Given the description of an element on the screen output the (x, y) to click on. 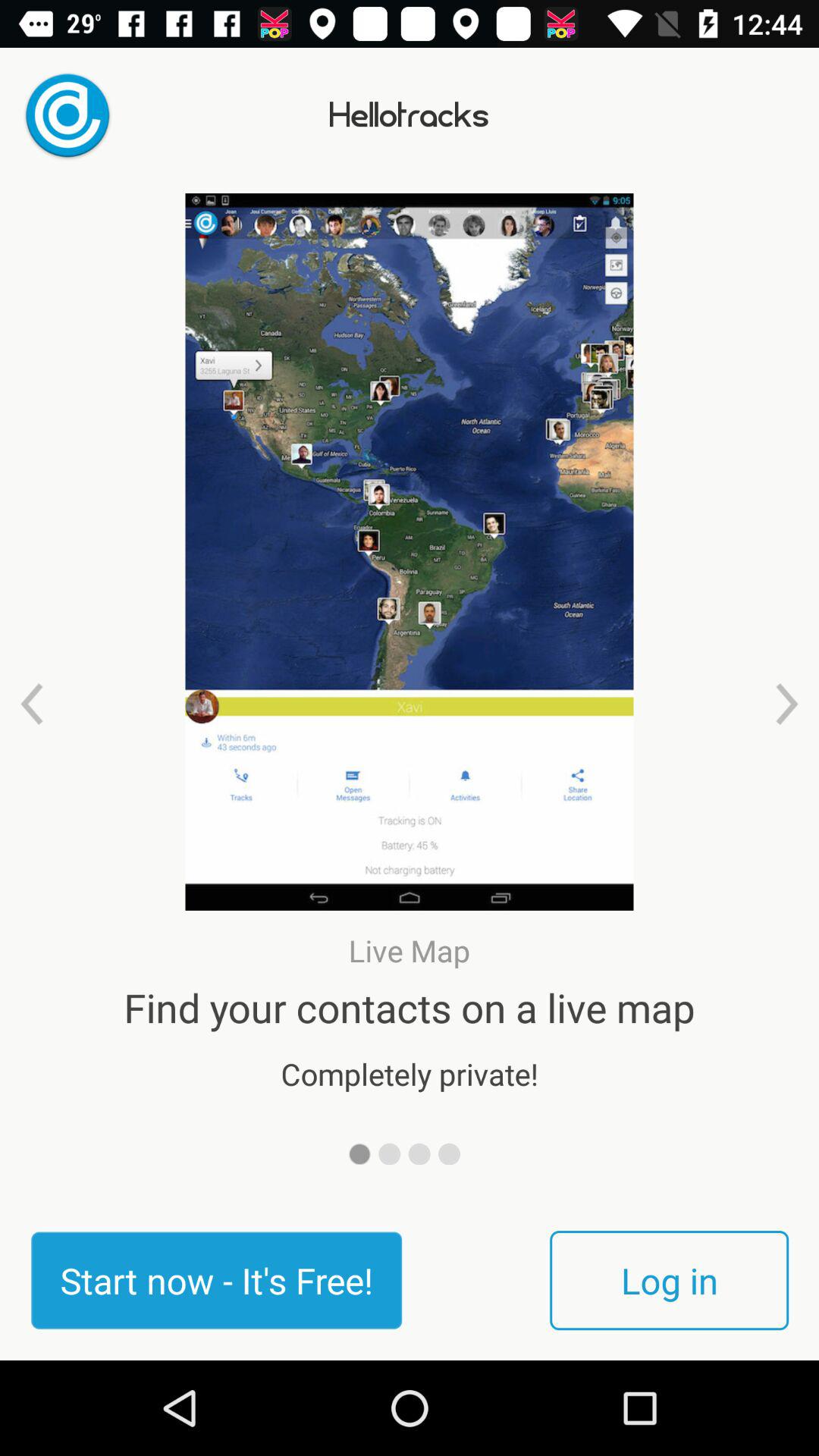
swipe to log in item (668, 1280)
